Given the description of an element on the screen output the (x, y) to click on. 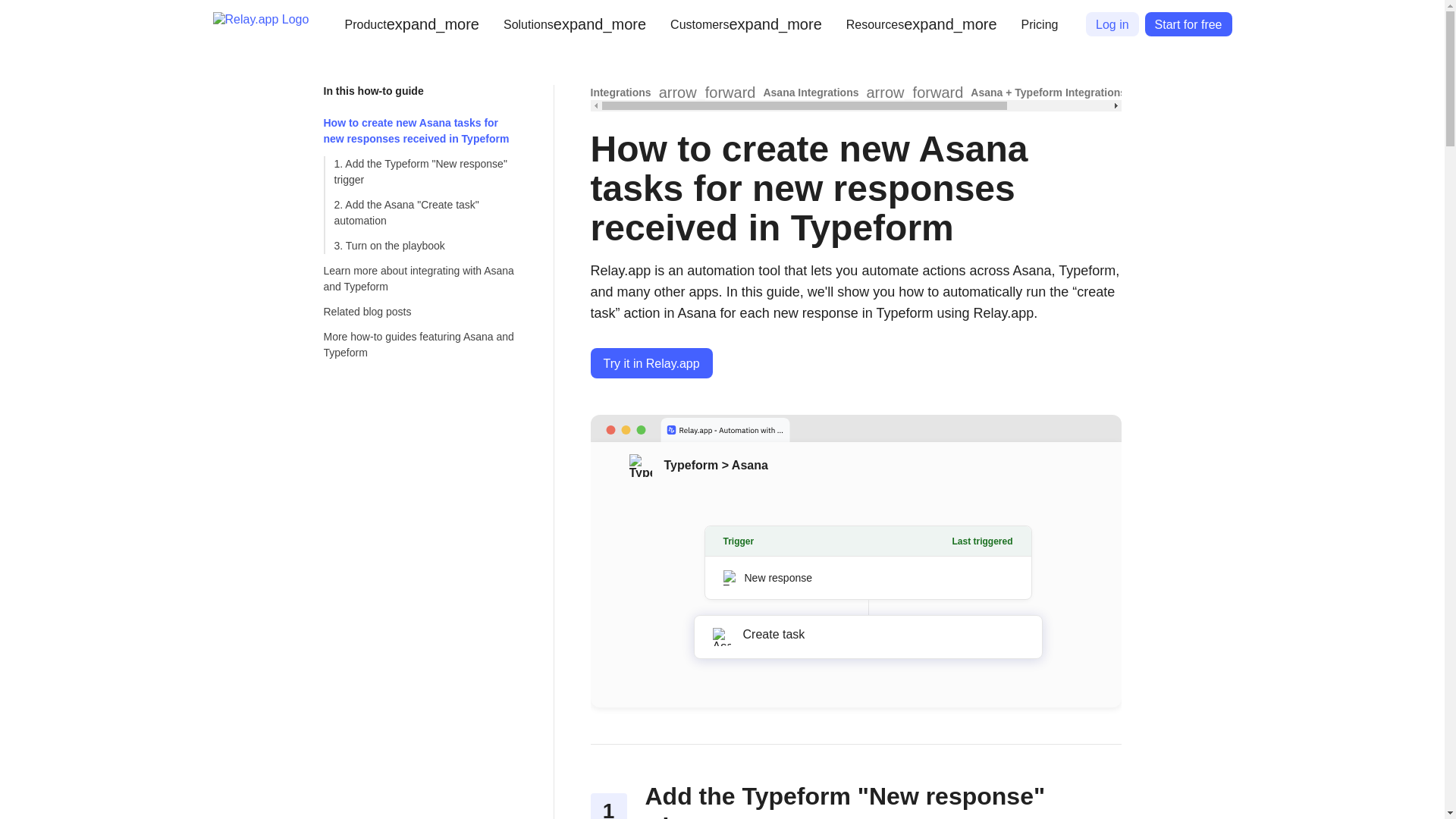
Pricing (1039, 24)
